Given the description of an element on the screen output the (x, y) to click on. 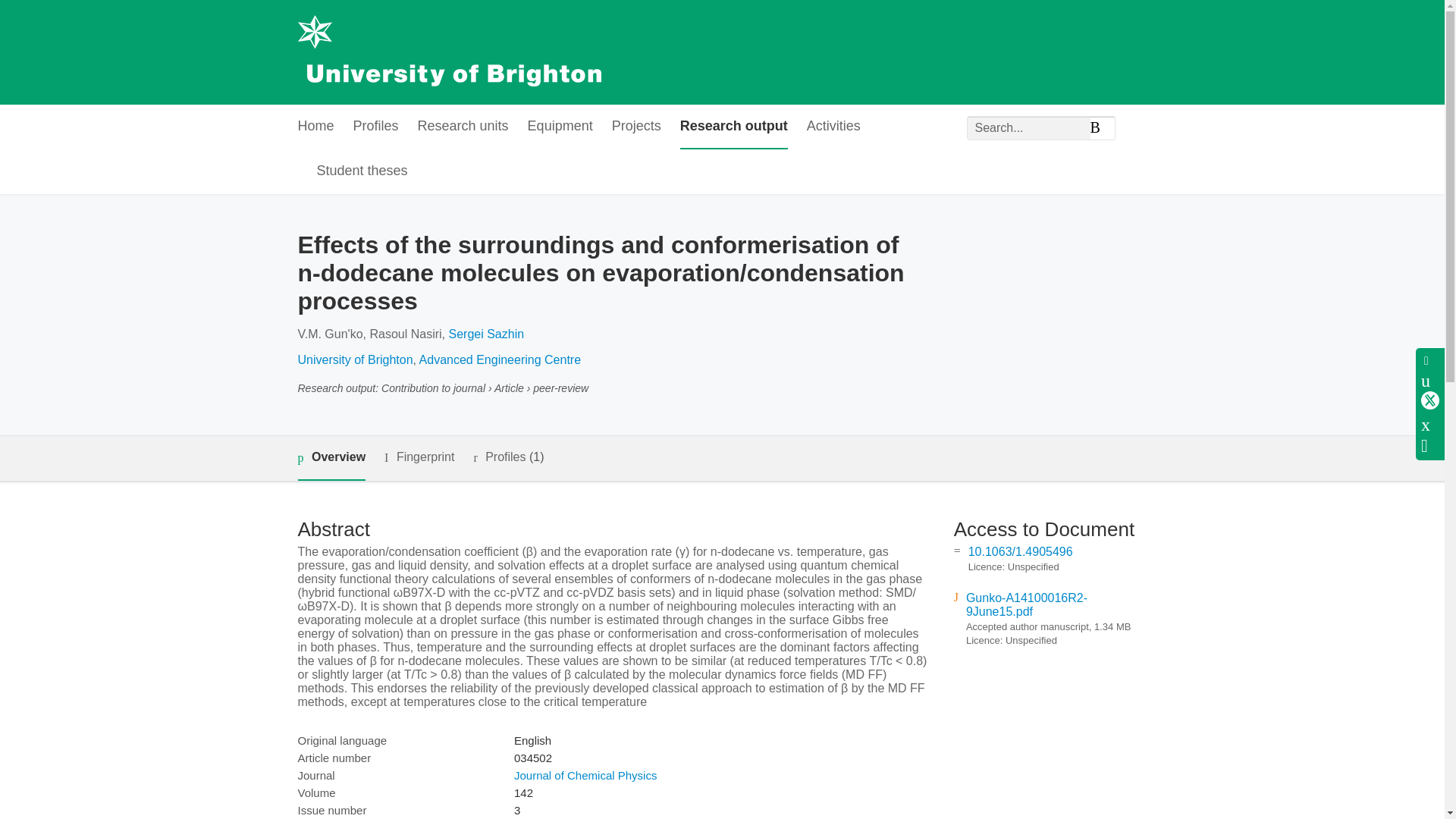
Advanced Engineering Centre (499, 359)
Overview (331, 457)
The University of Brighton Home (448, 52)
Research output (733, 126)
Research units (462, 126)
University of Brighton (354, 359)
Projects (636, 126)
Profiles (375, 126)
Gunko-A14100016R2-9June15.pdf (1026, 604)
Student theses (362, 171)
Fingerprint (419, 457)
Sergei Sazhin (486, 333)
Equipment (559, 126)
Journal of Chemical Physics (584, 775)
